Given the description of an element on the screen output the (x, y) to click on. 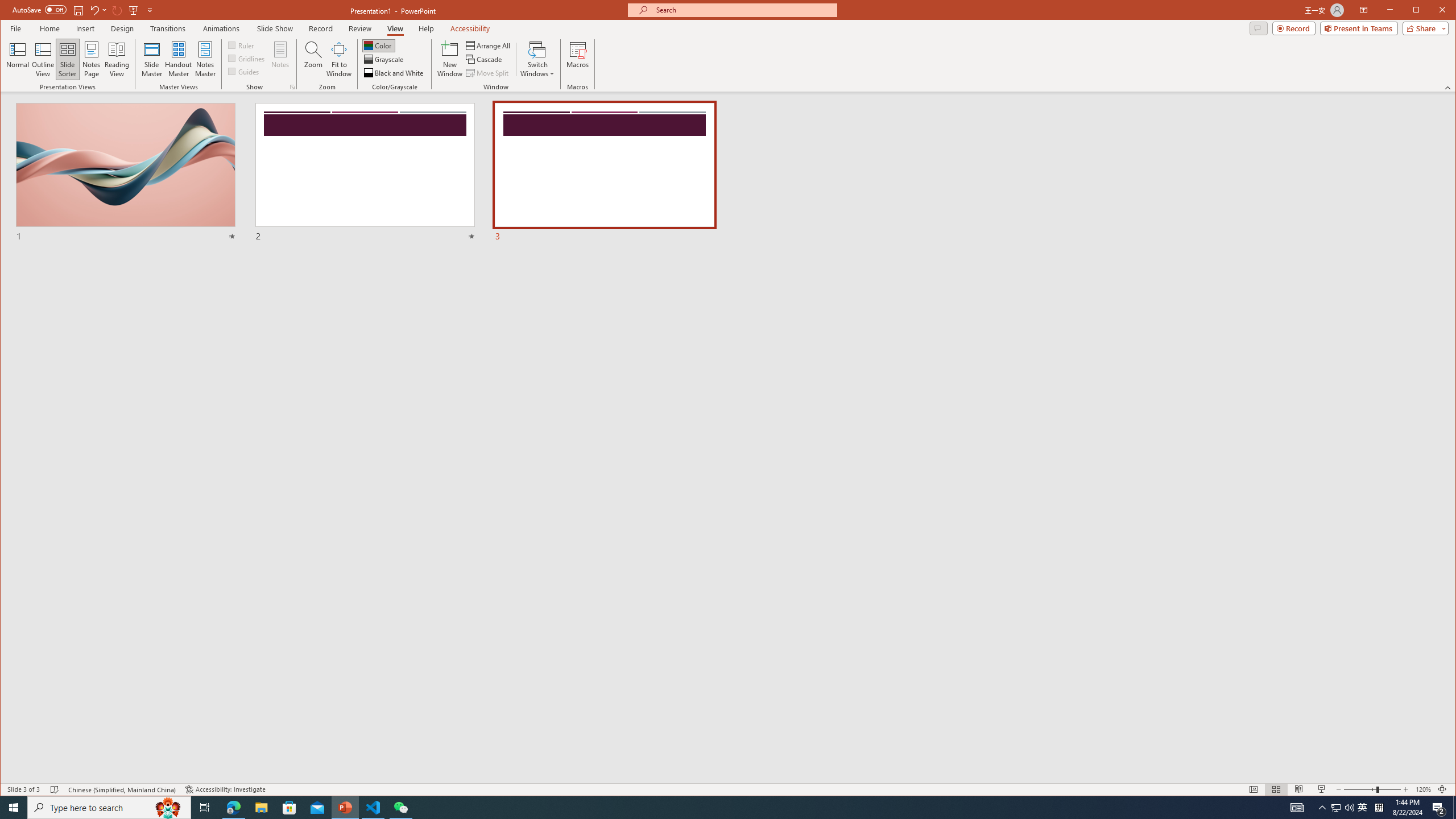
Zoom 120% (1422, 789)
Gridlines (246, 57)
WeChat - 1 running window (400, 807)
Notes (279, 59)
